Given the description of an element on the screen output the (x, y) to click on. 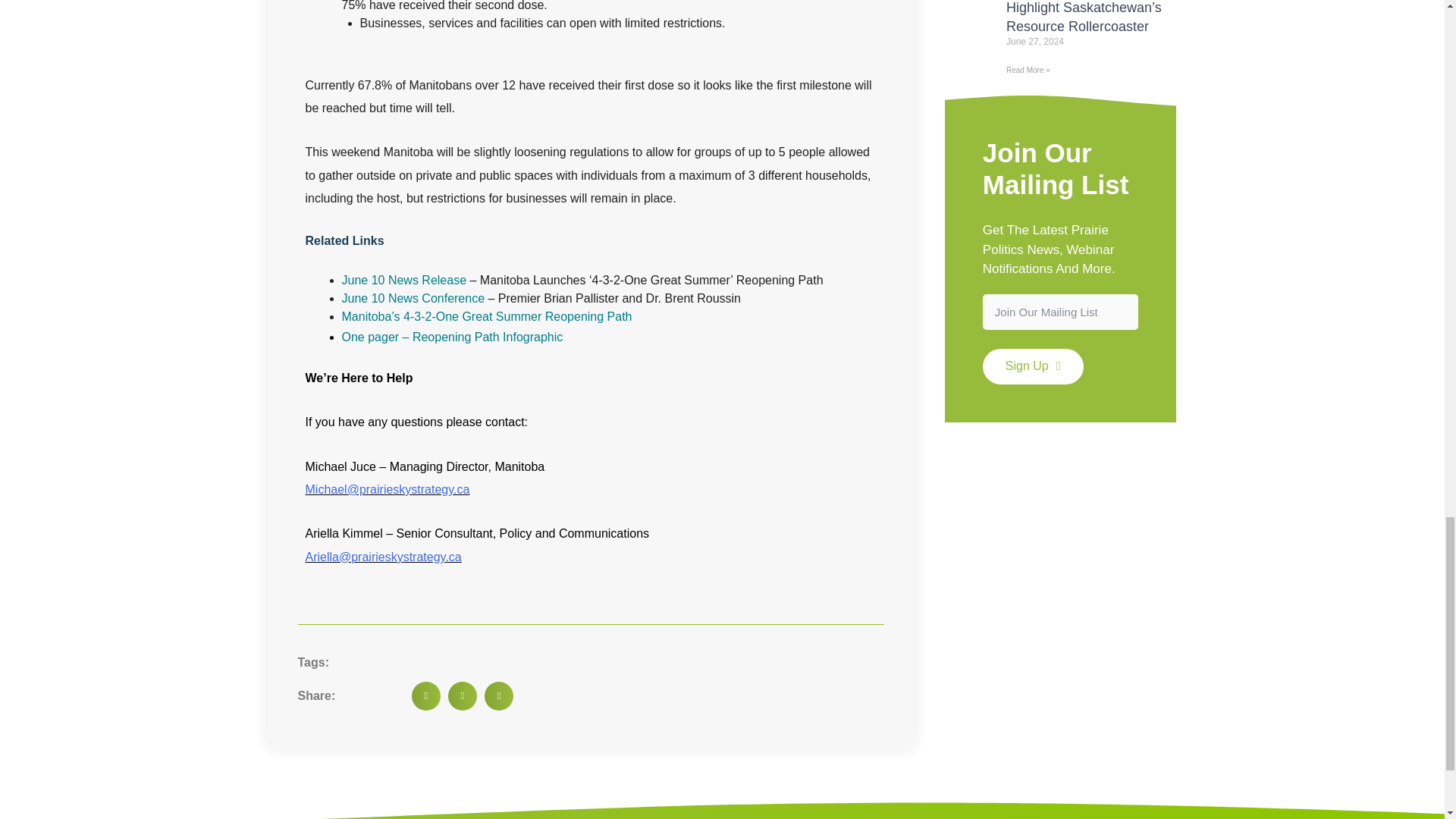
Ariella (320, 556)
June 10 News Release (402, 278)
June 10 News Conference (412, 297)
